Given the description of an element on the screen output the (x, y) to click on. 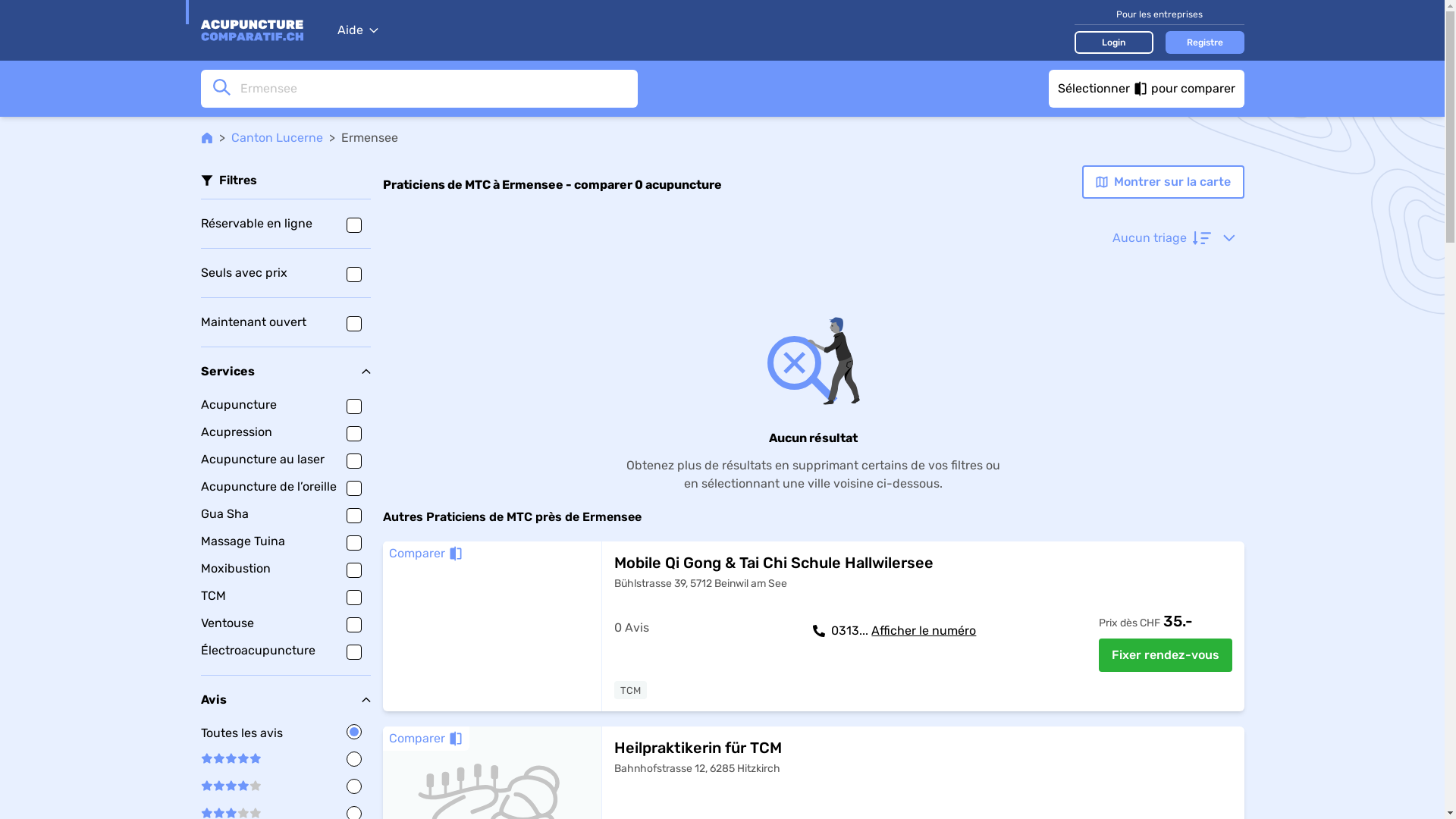
Fixer rendez-vous Element type: text (1164, 654)
Login Element type: text (1112, 41)
Registre Element type: text (1203, 41)
Aucun triage Element type: text (1172, 237)
Canton Lucerne Element type: text (276, 137)
Aide Element type: text (356, 30)
Maintenant ouvert Element type: text (285, 321)
Montrer sur la carte Element type: text (1162, 181)
Seuls avec prix Element type: text (285, 272)
Comparer Element type: text (425, 553)
Comparer Element type: text (425, 738)
